Given the description of an element on the screen output the (x, y) to click on. 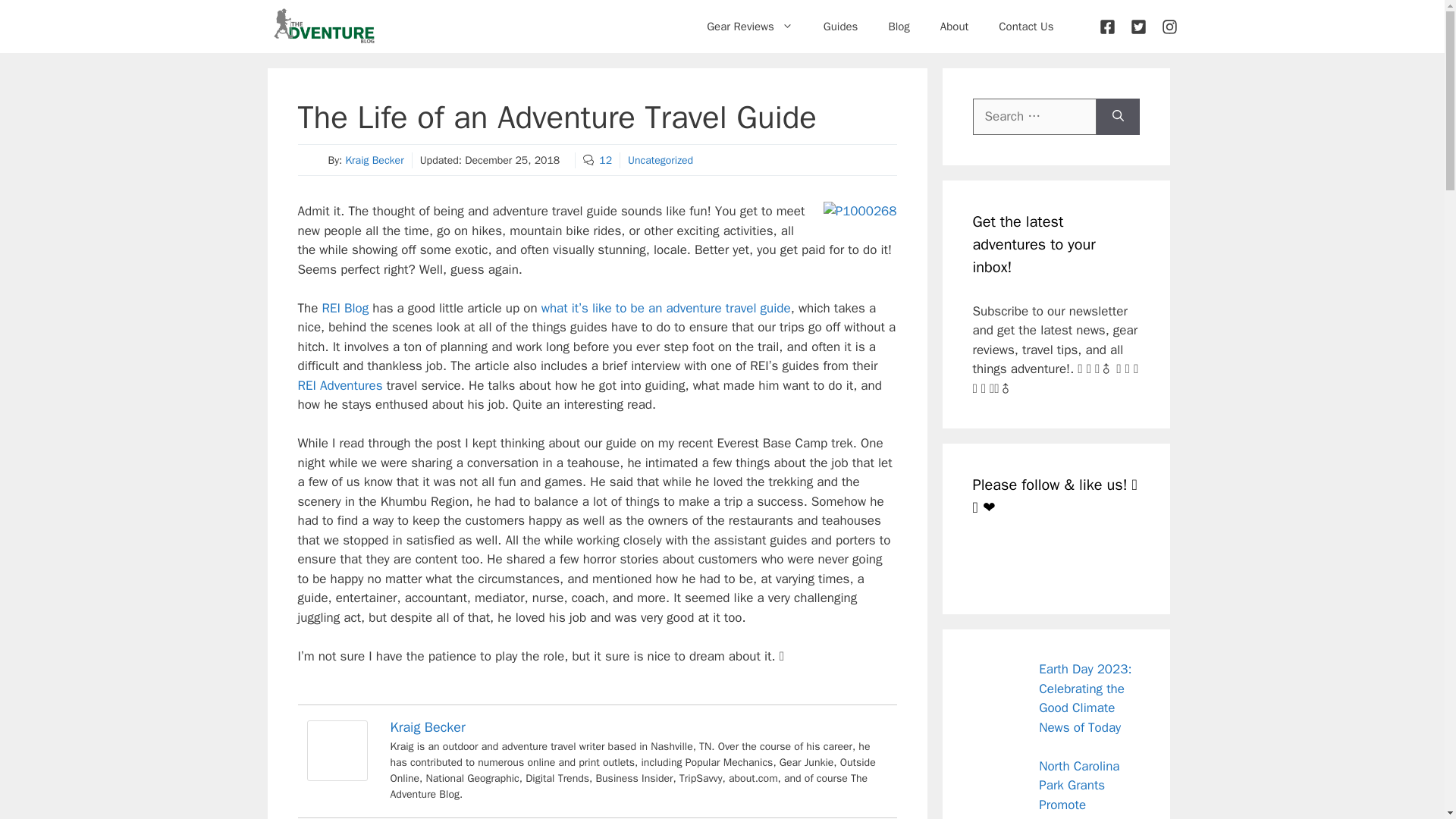
Gear Reviews (749, 26)
Kraig Becker (427, 727)
Contact Us (1026, 26)
REI Adventures (339, 385)
Facebook (990, 560)
12 (604, 160)
REI Blog (344, 308)
Guides (840, 26)
Blog (898, 26)
Uncategorized (660, 160)
Twitter (1025, 560)
The Adventure Blog (323, 26)
Search for: (1034, 116)
Kraig Becker (335, 776)
Kraig Becker (374, 160)
